Given the description of an element on the screen output the (x, y) to click on. 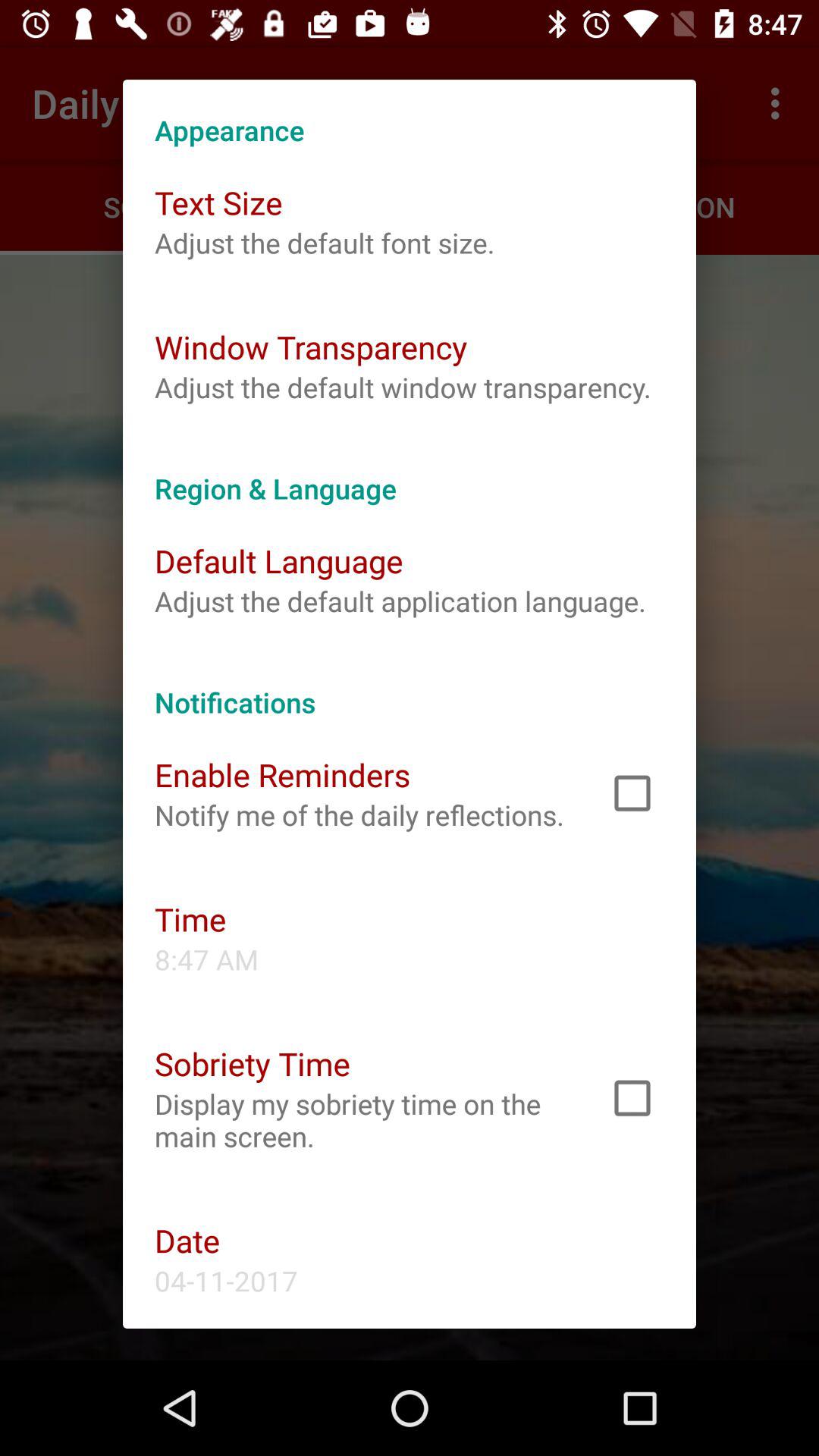
select the item above the text size icon (409, 114)
